Given the description of an element on the screen output the (x, y) to click on. 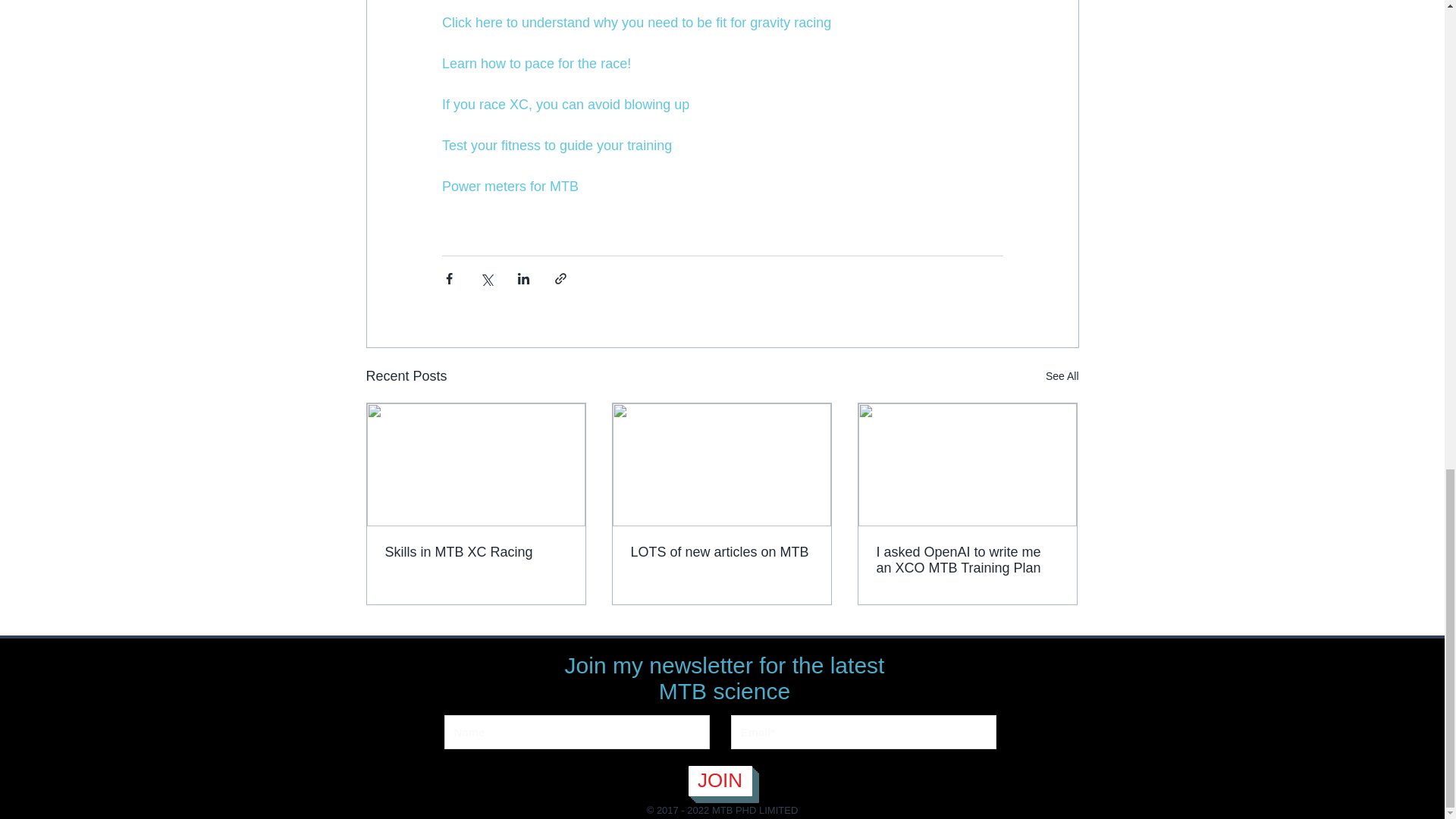
LOTS of new articles on MTB (721, 552)
Learn how to pace for the race! (535, 63)
Power meters for MTB (509, 186)
If you race XC, you can avoid blowing up (564, 104)
See All (1061, 376)
Test your fitness to guide your training (556, 145)
JOIN (720, 780)
I asked OpenAI to write me an XCO MTB Training Plan (967, 560)
Skills in MTB XC Racing (476, 552)
